Given the description of an element on the screen output the (x, y) to click on. 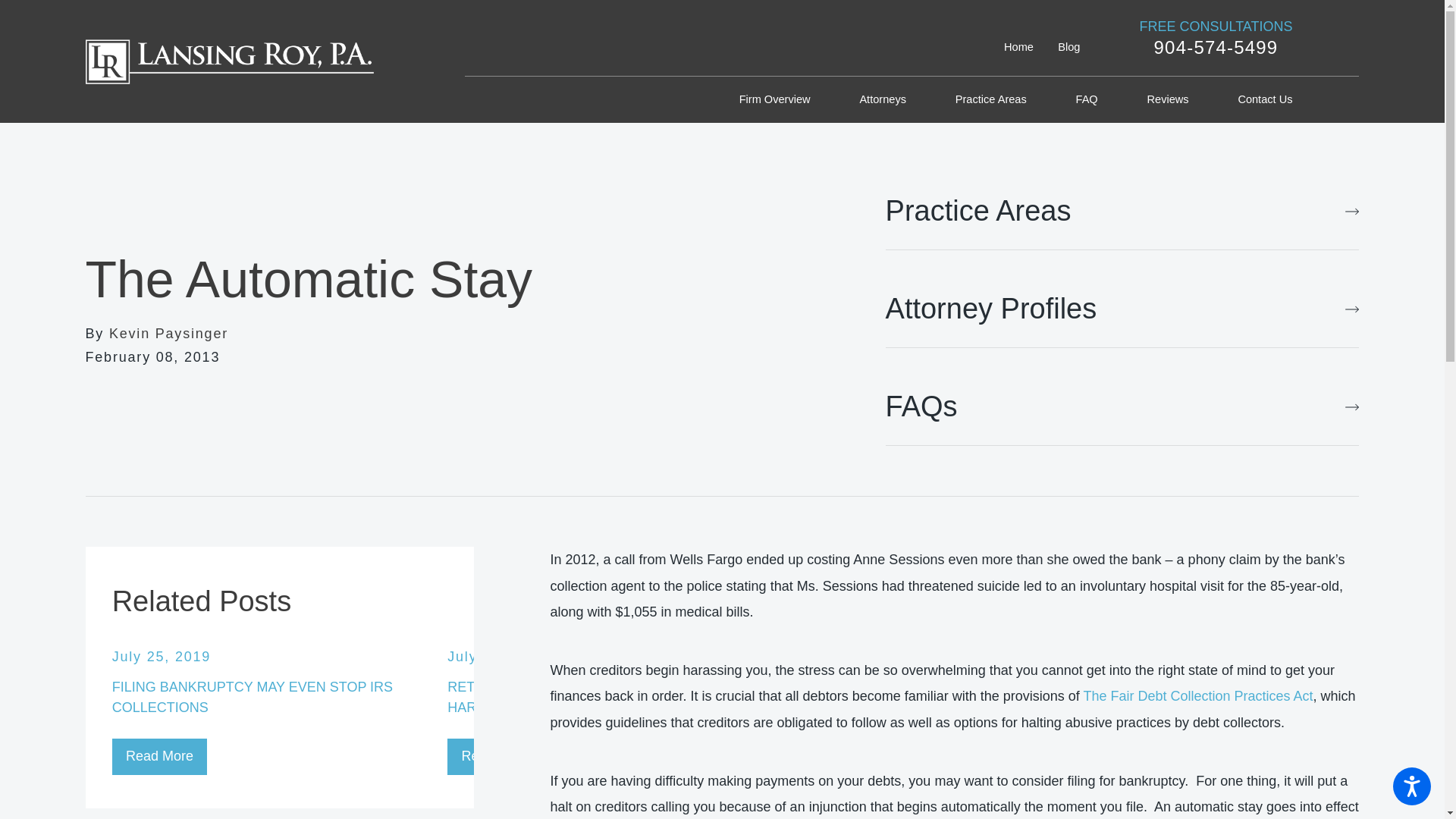
Practice Areas (990, 99)
Reviews (1167, 99)
Contact Us (1264, 99)
Attorneys (882, 99)
904-574-5499 (1215, 47)
Lansing Roy, P.A. (228, 61)
Open the accessibility options menu (1412, 786)
Firm Overview (774, 99)
Blog (1069, 46)
Home (1018, 46)
